Given the description of an element on the screen output the (x, y) to click on. 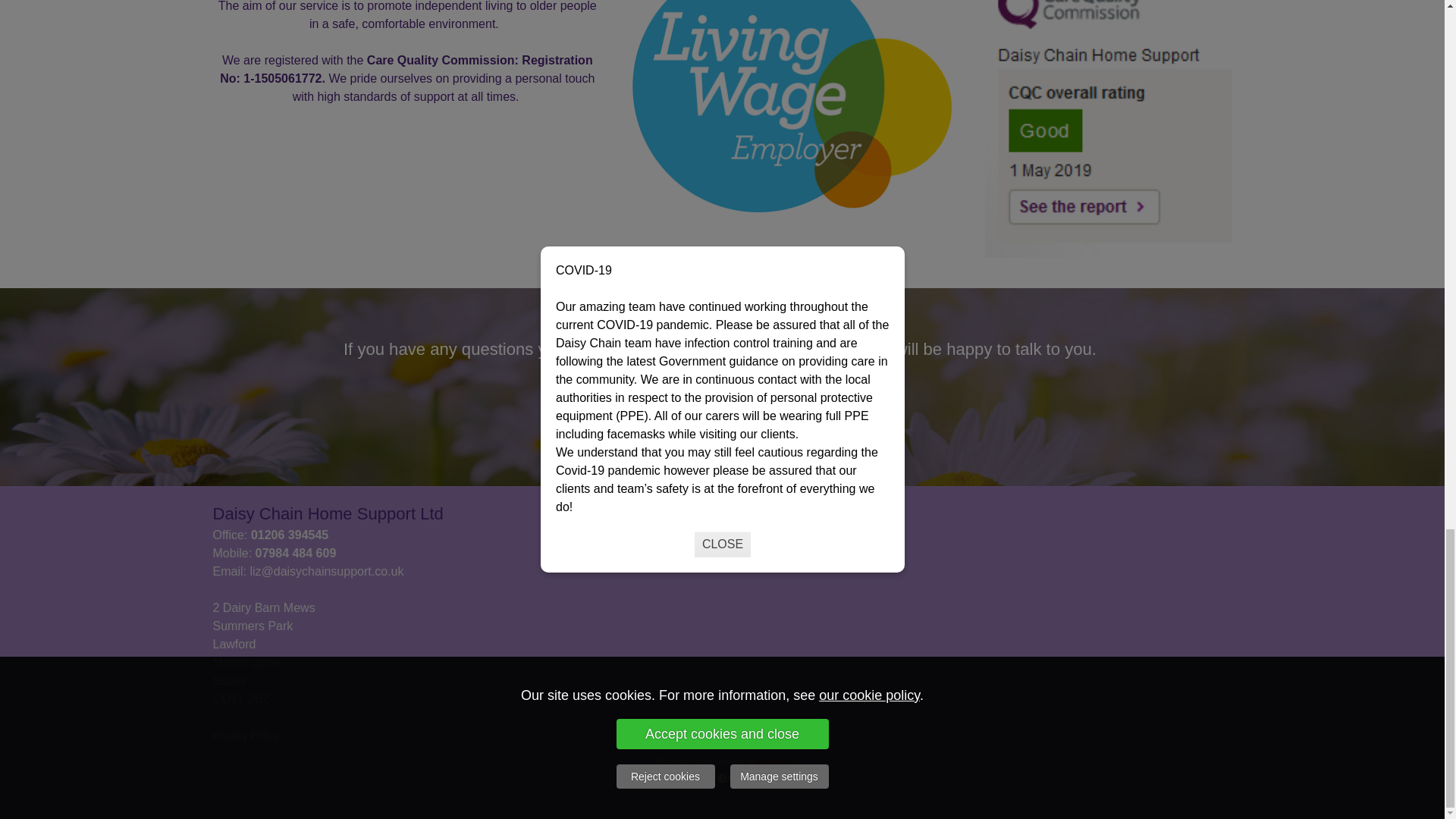
it'seeze (773, 760)
Privacy Policy (245, 735)
CONTACT US (720, 400)
